Given the description of an element on the screen output the (x, y) to click on. 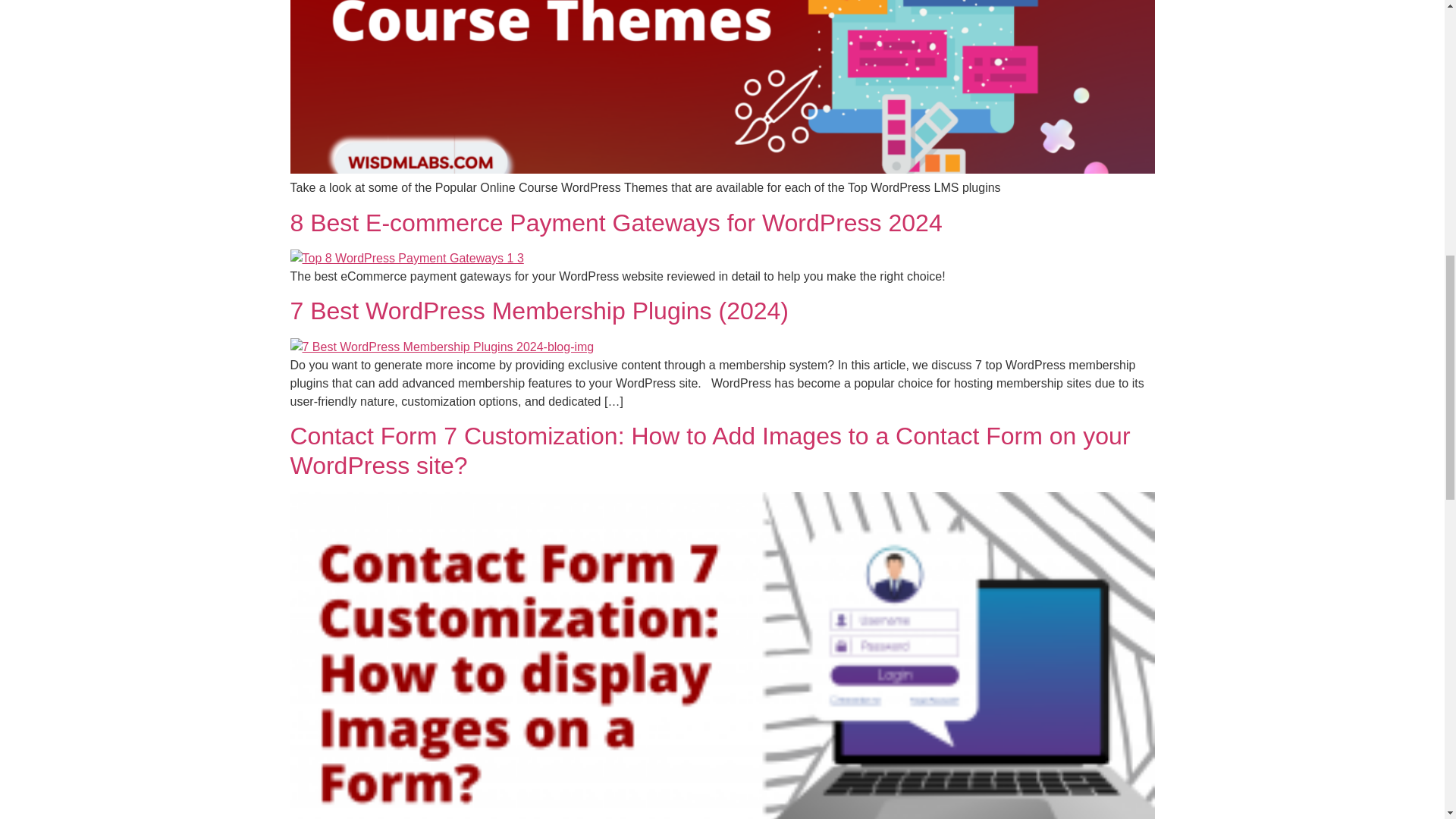
7 Best WordPress Membership Plugins 2024 blog img (441, 347)
Top 8 WordPress Payment Gateways 1 3 (405, 258)
